Given the description of an element on the screen output the (x, y) to click on. 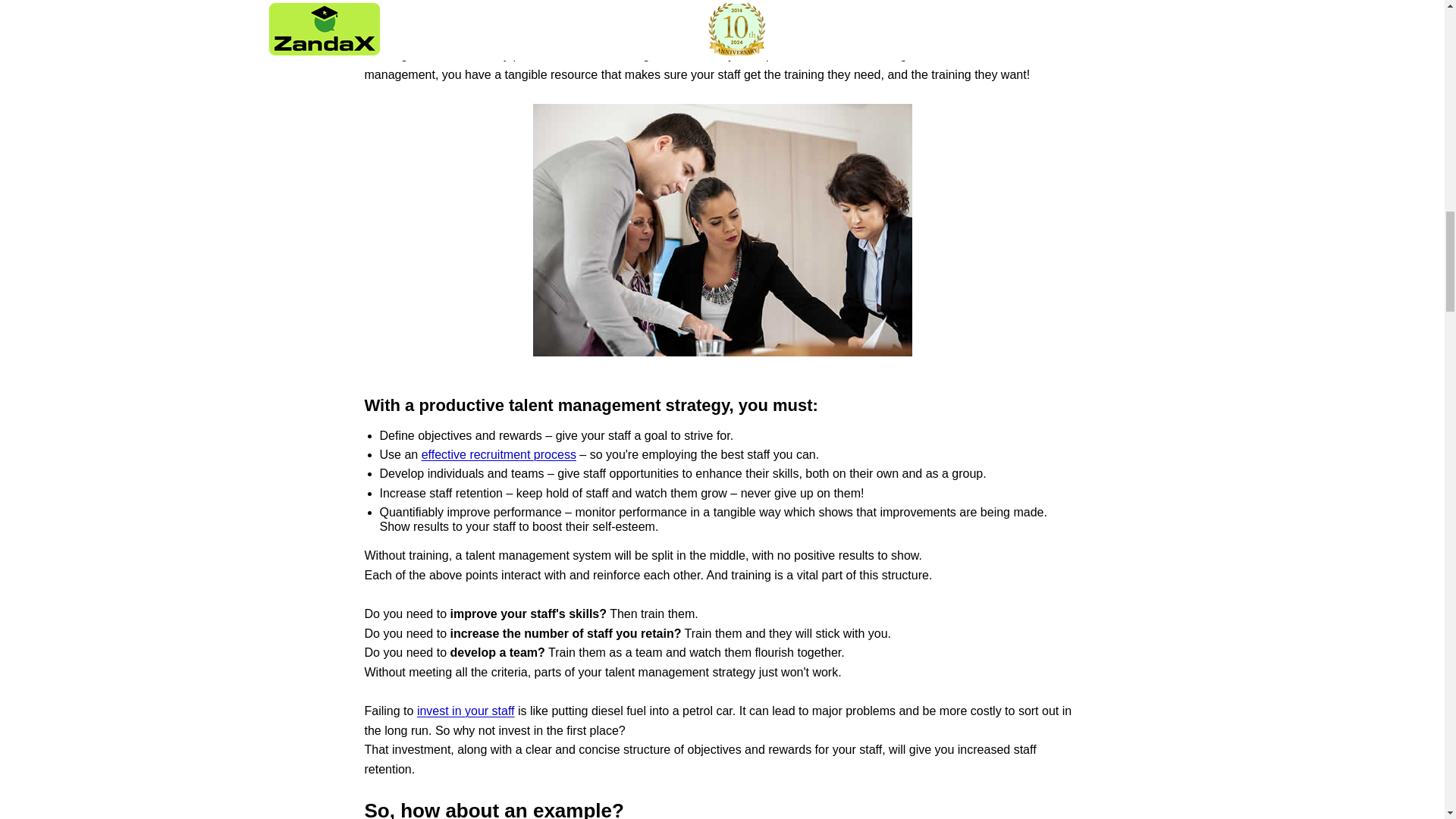
Employee Training is Worth the Investment  (465, 710)
effective recruitment process (499, 454)
invest in your staff (465, 710)
